Given the description of an element on the screen output the (x, y) to click on. 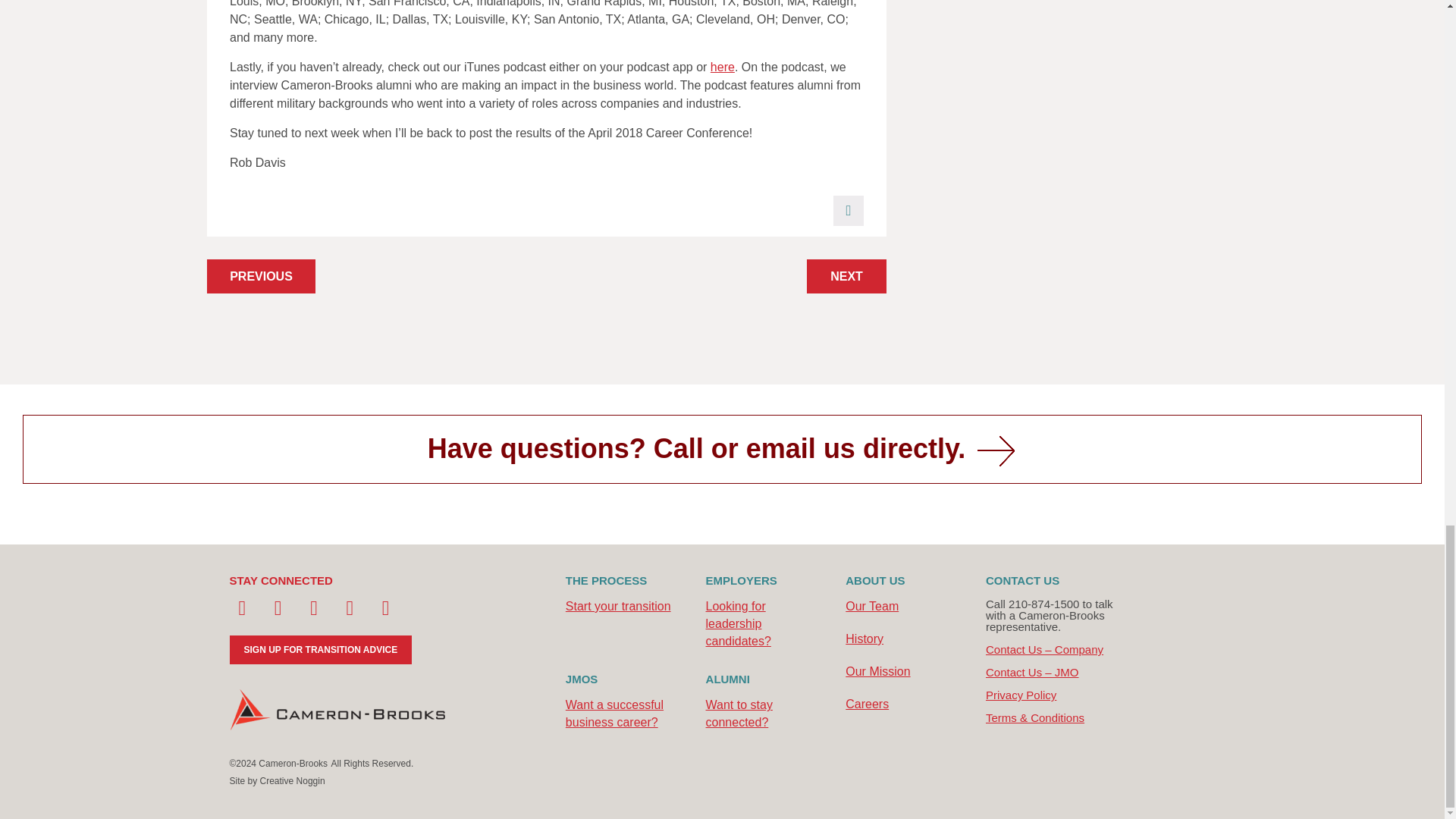
April 2018 Career Conference Results (846, 276)
